Given the description of an element on the screen output the (x, y) to click on. 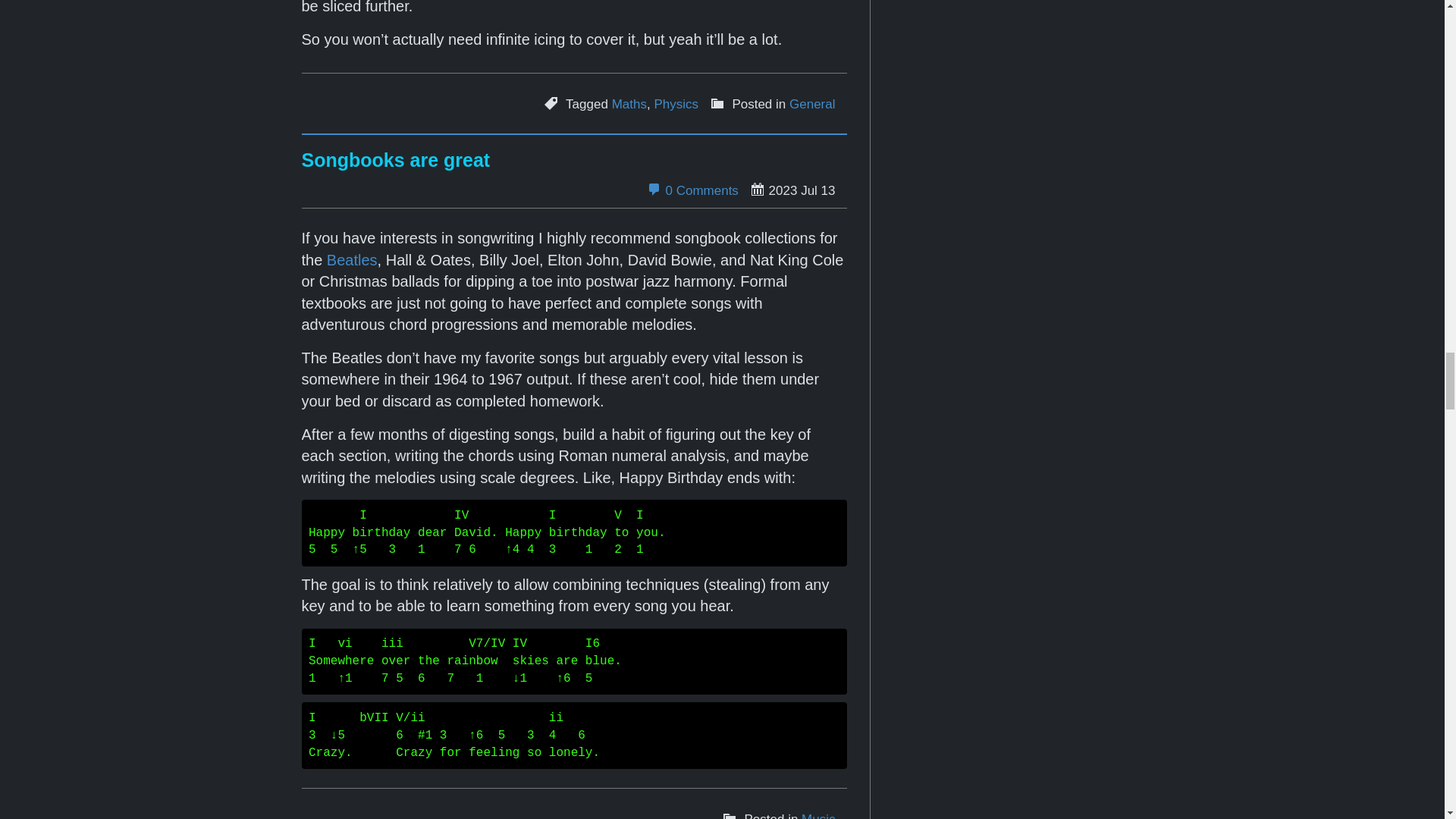
Thursday, July 13, 2023 7:21 am (792, 189)
